Given the description of an element on the screen output the (x, y) to click on. 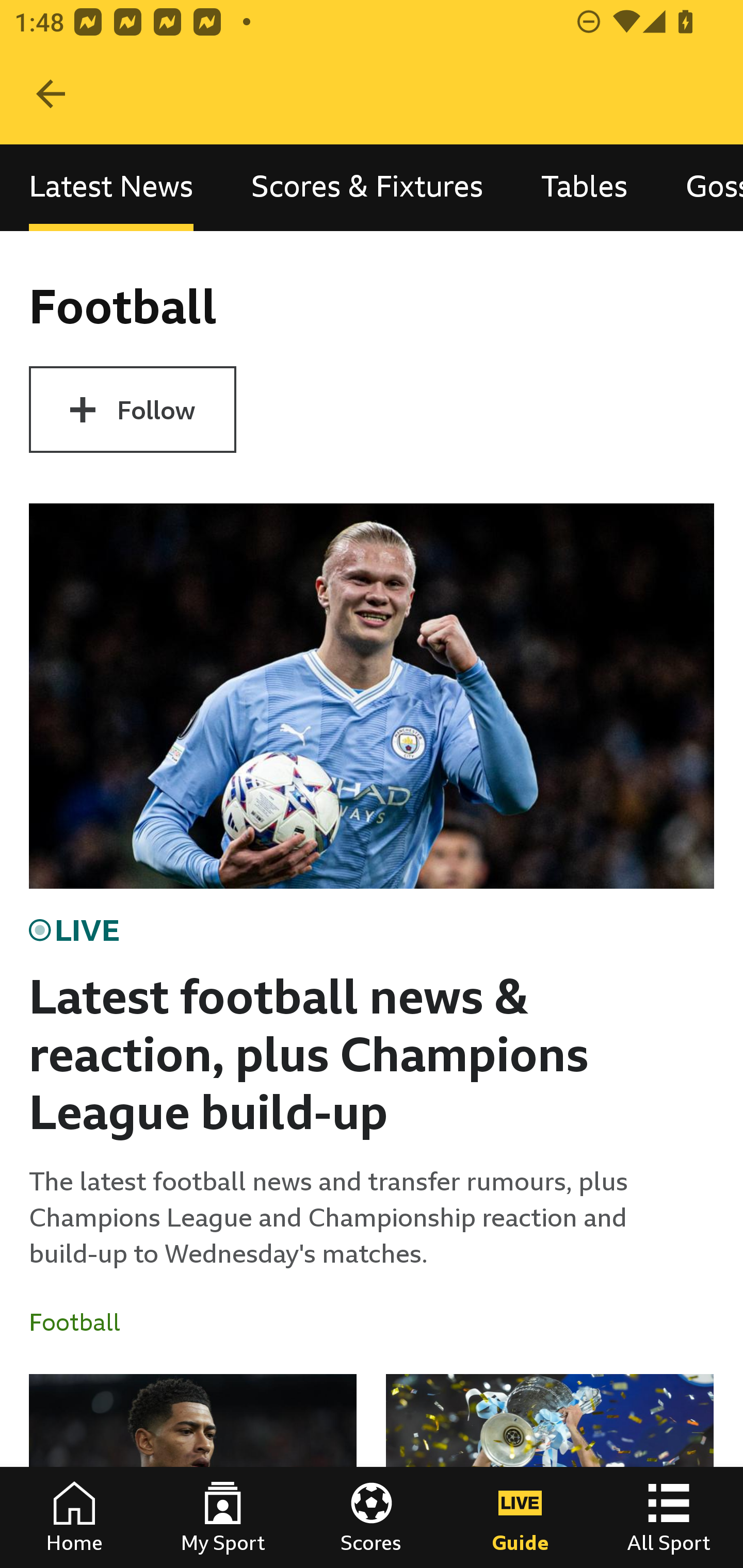
Navigate up (50, 93)
Latest News, selected Latest News (111, 187)
Scores & Fixtures (367, 187)
Tables (584, 187)
Follow Football Follow (132, 409)
Home (74, 1517)
My Sport (222, 1517)
Scores (371, 1517)
All Sport (668, 1517)
